Given the description of an element on the screen output the (x, y) to click on. 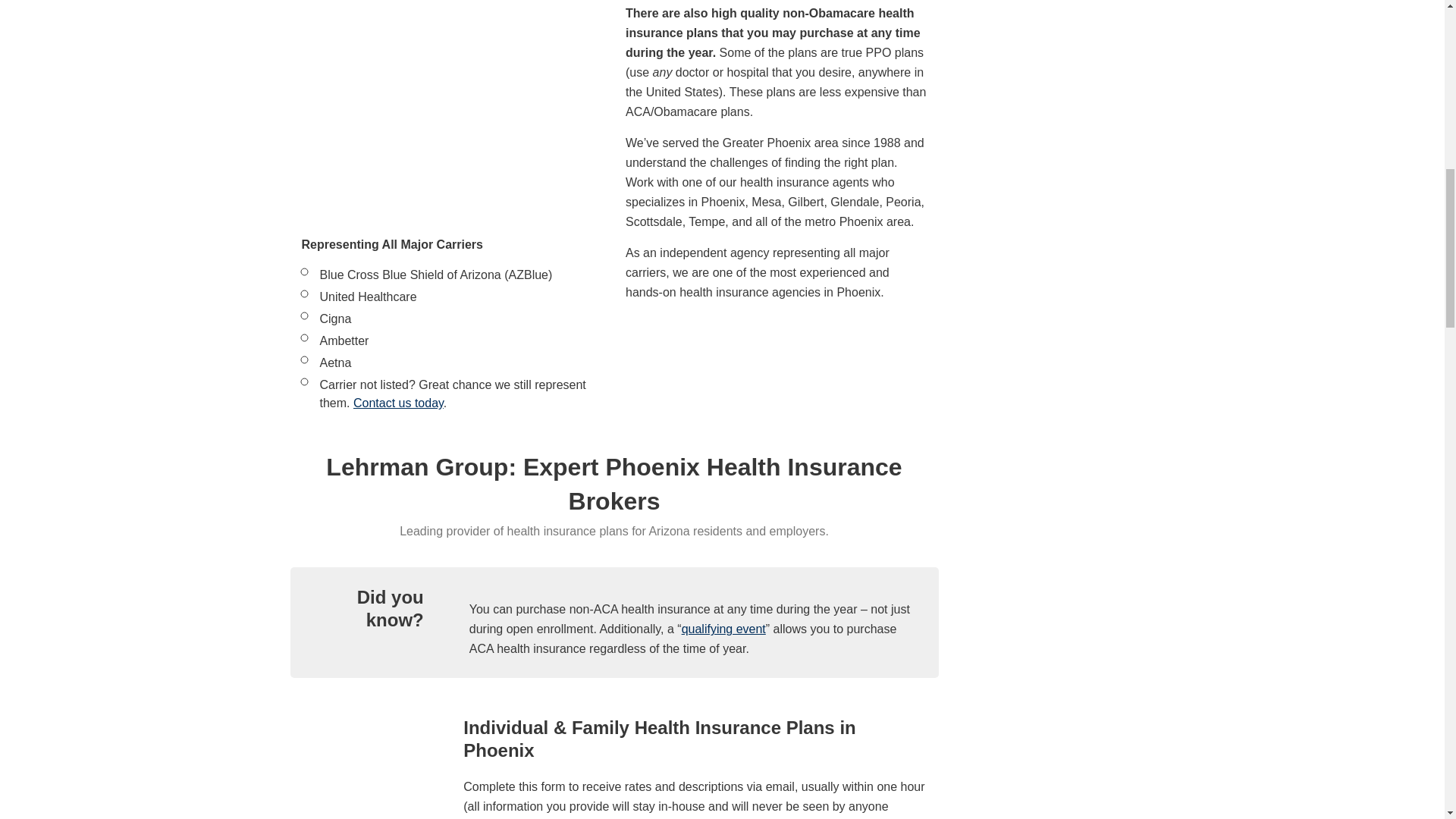
Contact us today (398, 402)
qualifying event (723, 628)
Phoenix, Arizona (452, 101)
